Given the description of an element on the screen output the (x, y) to click on. 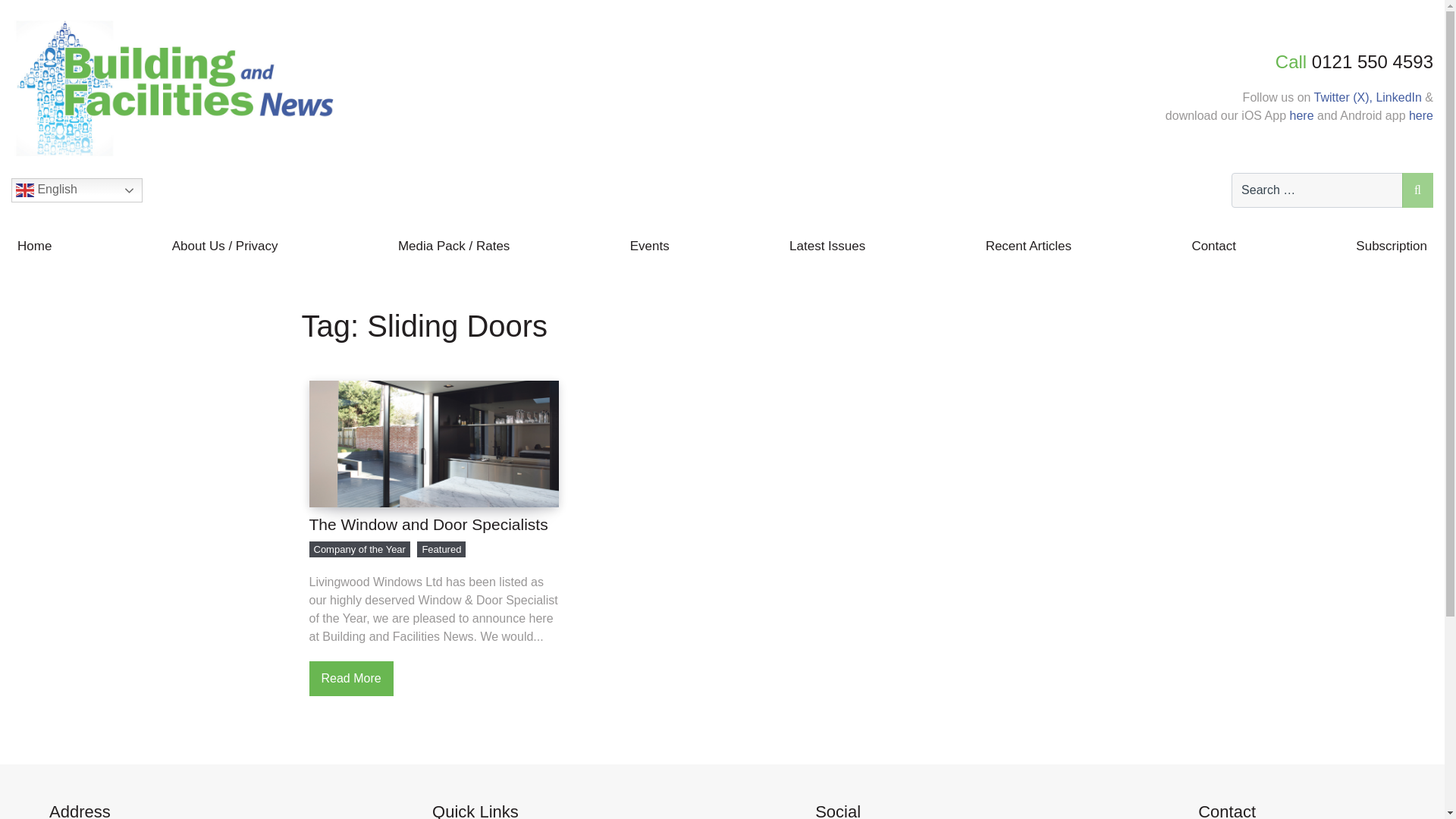
Featured (440, 549)
The Window and Door Specialists (433, 524)
Call 0121 550 4593 (1299, 62)
Events (649, 246)
Contact (1213, 246)
Home (34, 246)
English (76, 190)
Latest Issues (826, 246)
Read More (350, 678)
LinkedIn (1398, 97)
here (1420, 115)
Recent Articles (1028, 246)
here (1300, 115)
Latest Issues (826, 246)
Recent Articles (1028, 246)
